Given the description of an element on the screen output the (x, y) to click on. 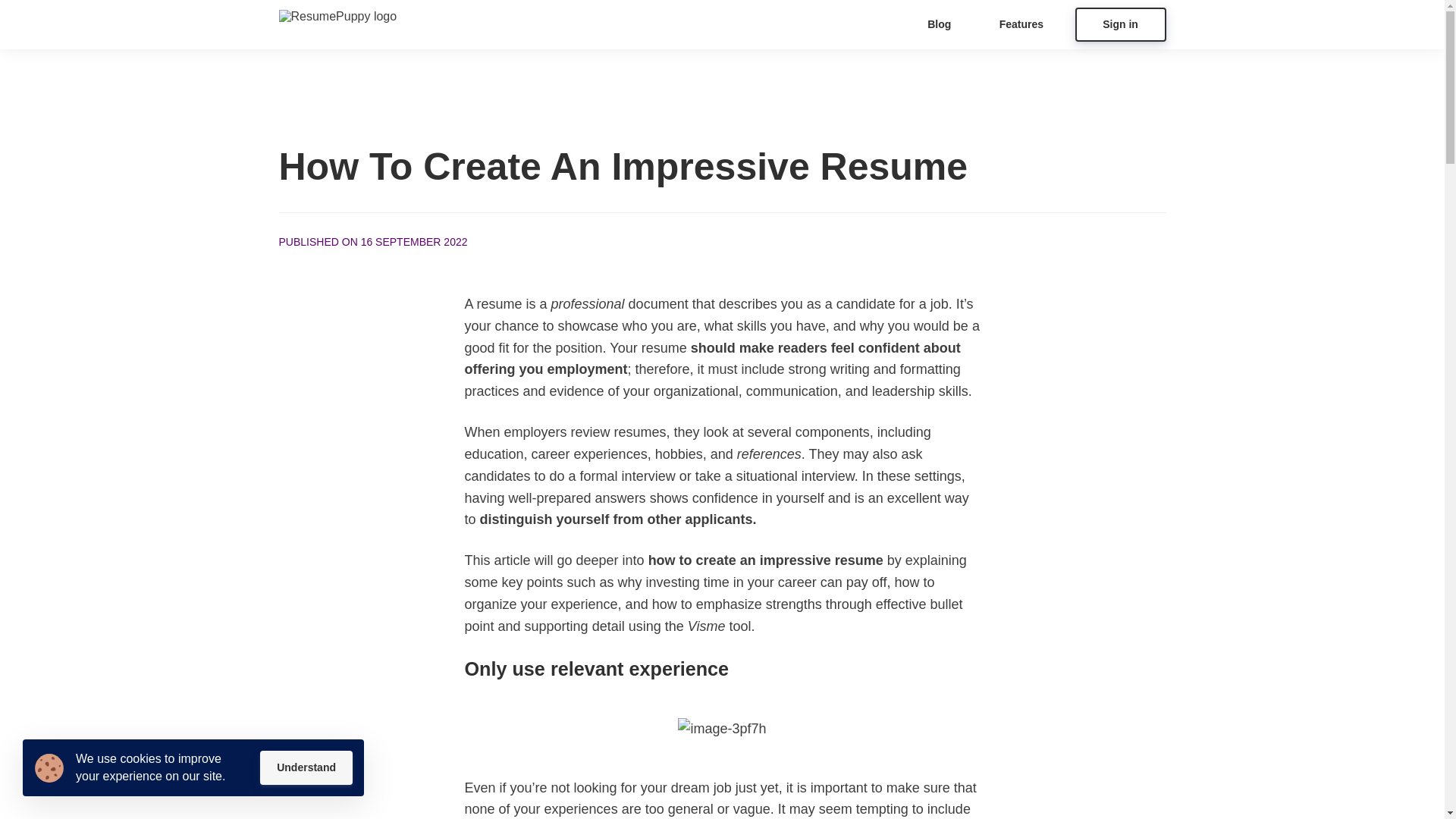
Understand (306, 767)
Blog (939, 24)
Sign in (1120, 24)
Features (1020, 24)
